Given the description of an element on the screen output the (x, y) to click on. 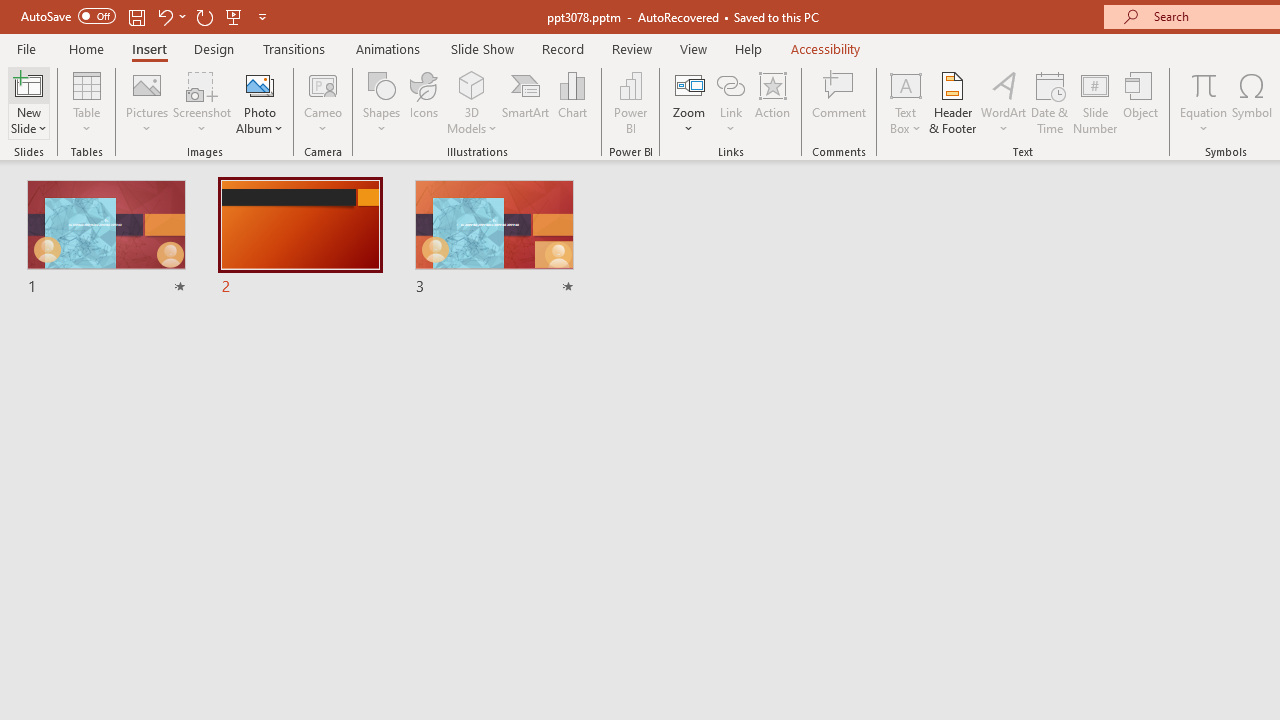
3D Models (472, 84)
SmartArt... (525, 102)
Action (772, 102)
Screenshot (202, 102)
Table (86, 102)
New Photo Album... (259, 84)
Symbol... (1252, 102)
